Given the description of an element on the screen output the (x, y) to click on. 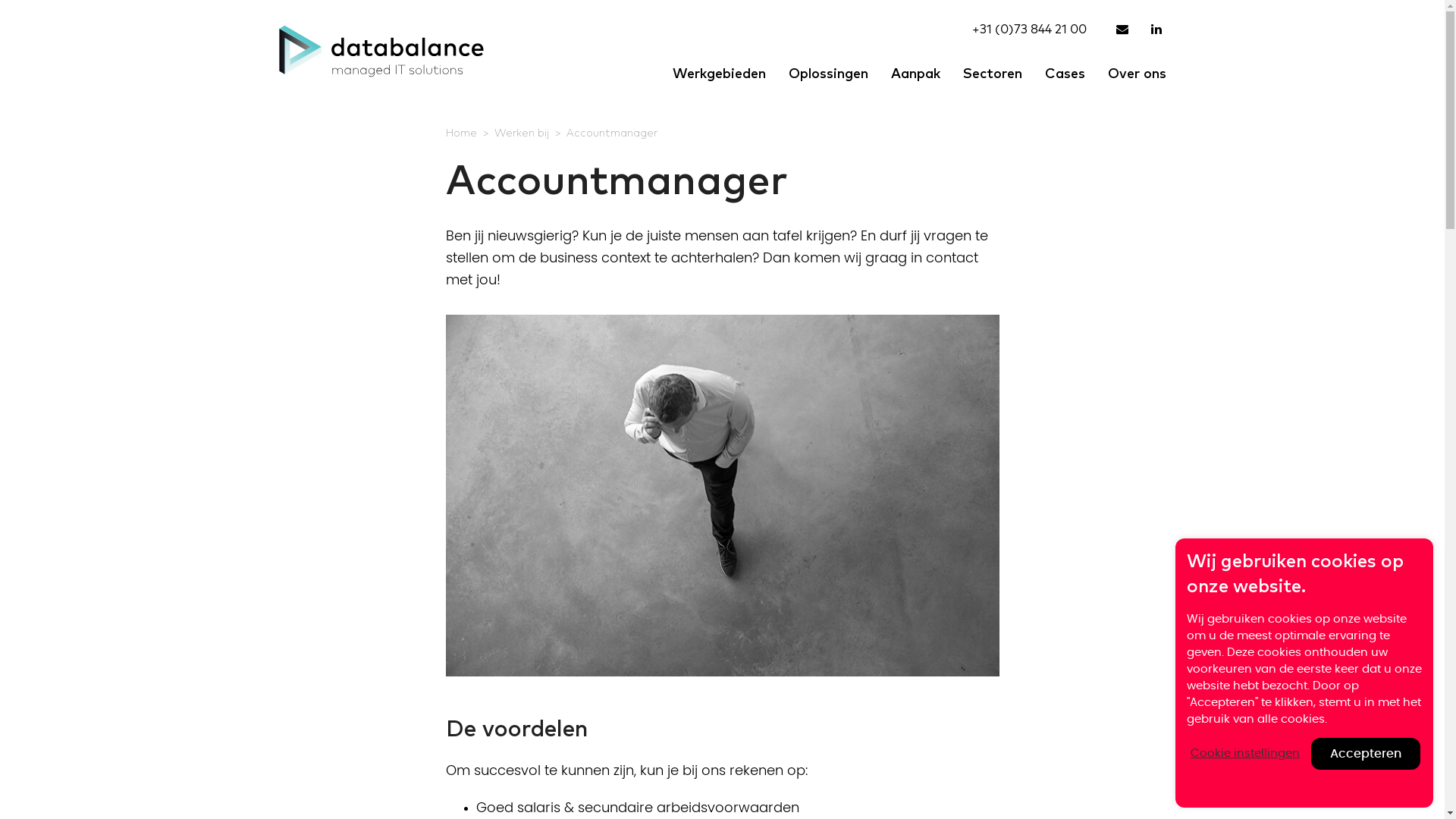
Over ons Element type: text (1136, 73)
Aanpak Element type: text (915, 73)
+31 (0)73 844 21 00 Element type: text (1029, 28)
Cases Element type: text (1063, 73)
Home Element type: text (460, 133)
Werken bij Element type: text (521, 133)
Linkedin Element type: hover (1158, 28)
Werkgebieden Element type: text (719, 73)
Cookie instellingen Element type: text (1244, 753)
Accepteren Element type: text (1365, 753)
Sectoren Element type: text (991, 73)
Oplossingen Element type: text (827, 73)
